Given the description of an element on the screen output the (x, y) to click on. 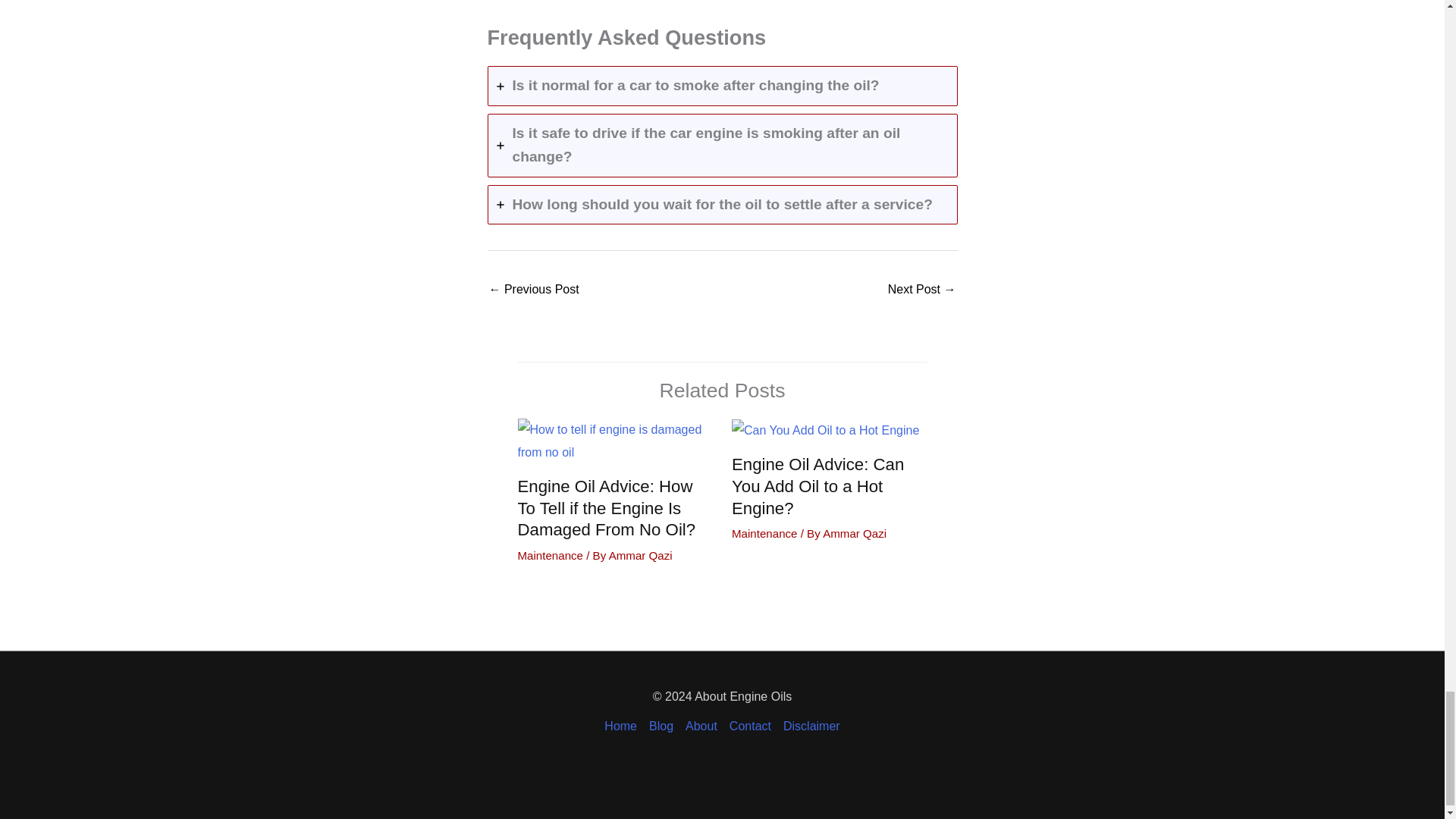
Engine Oil Advice: Can You Add Oil to a Hot Engine? (818, 486)
Ammar Qazi (640, 554)
View all posts by Ammar Qazi (854, 533)
View all posts by Ammar Qazi (640, 554)
Maintenance (764, 533)
Home (623, 725)
Maintenance (549, 554)
Ammar Qazi (854, 533)
